Given the description of an element on the screen output the (x, y) to click on. 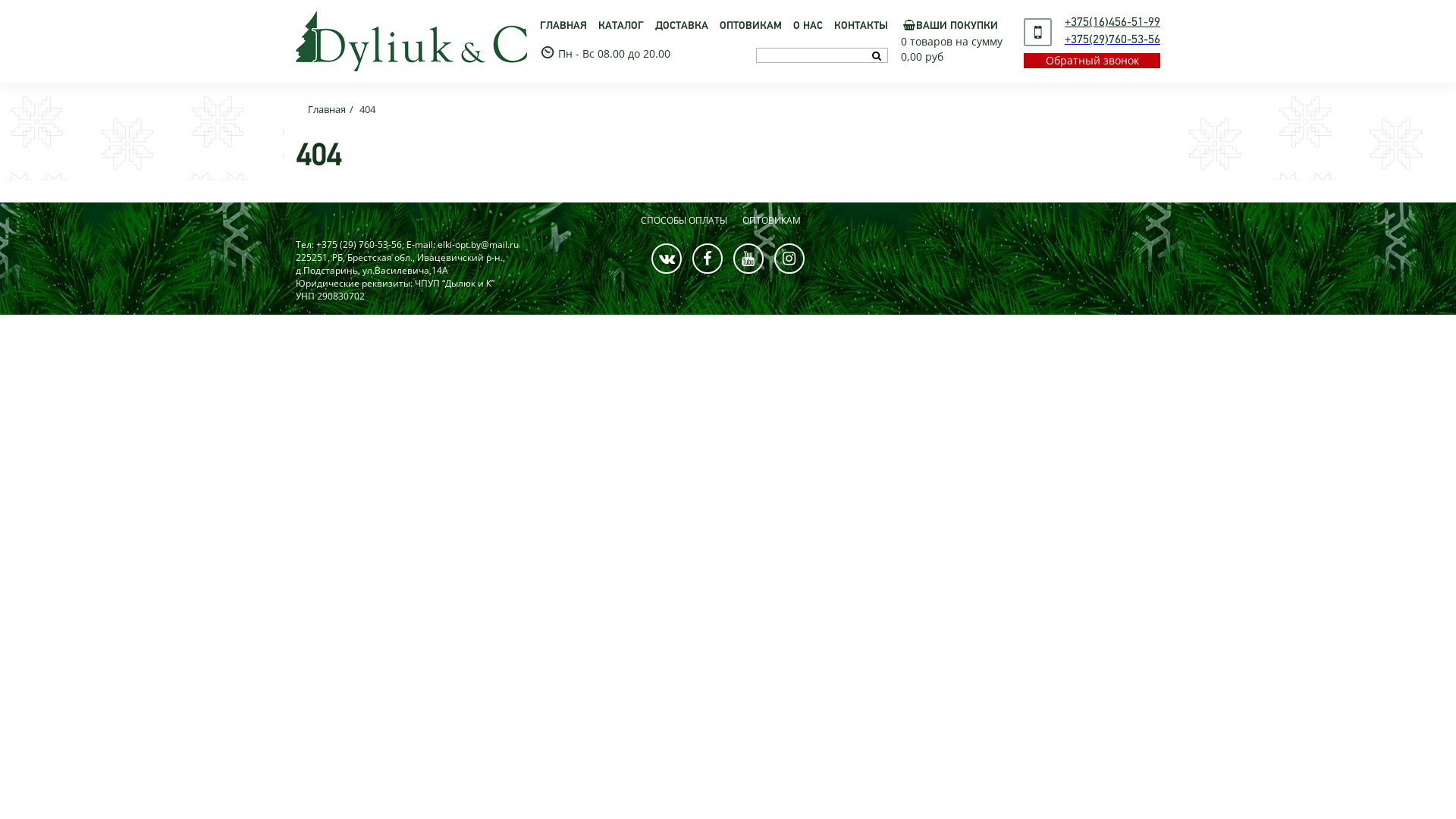
+375(16)456-51-99 Element type: text (1112, 22)
+375(29)760-53-56 Element type: text (1112, 40)
